Given the description of an element on the screen output the (x, y) to click on. 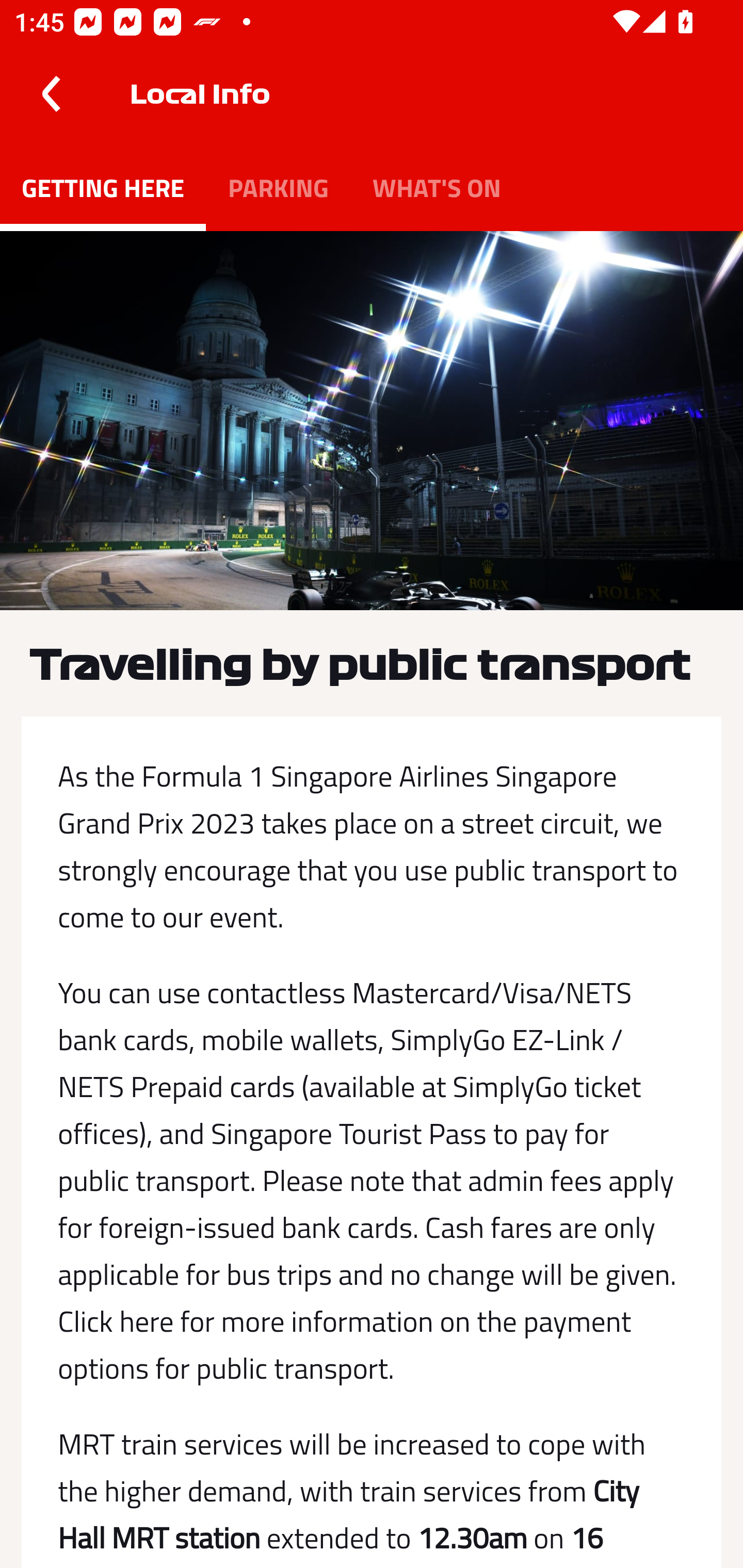
Navigate up (50, 93)
Parking PARKING (277, 187)
What's On WHAT'S ON (436, 187)
